Given the description of an element on the screen output the (x, y) to click on. 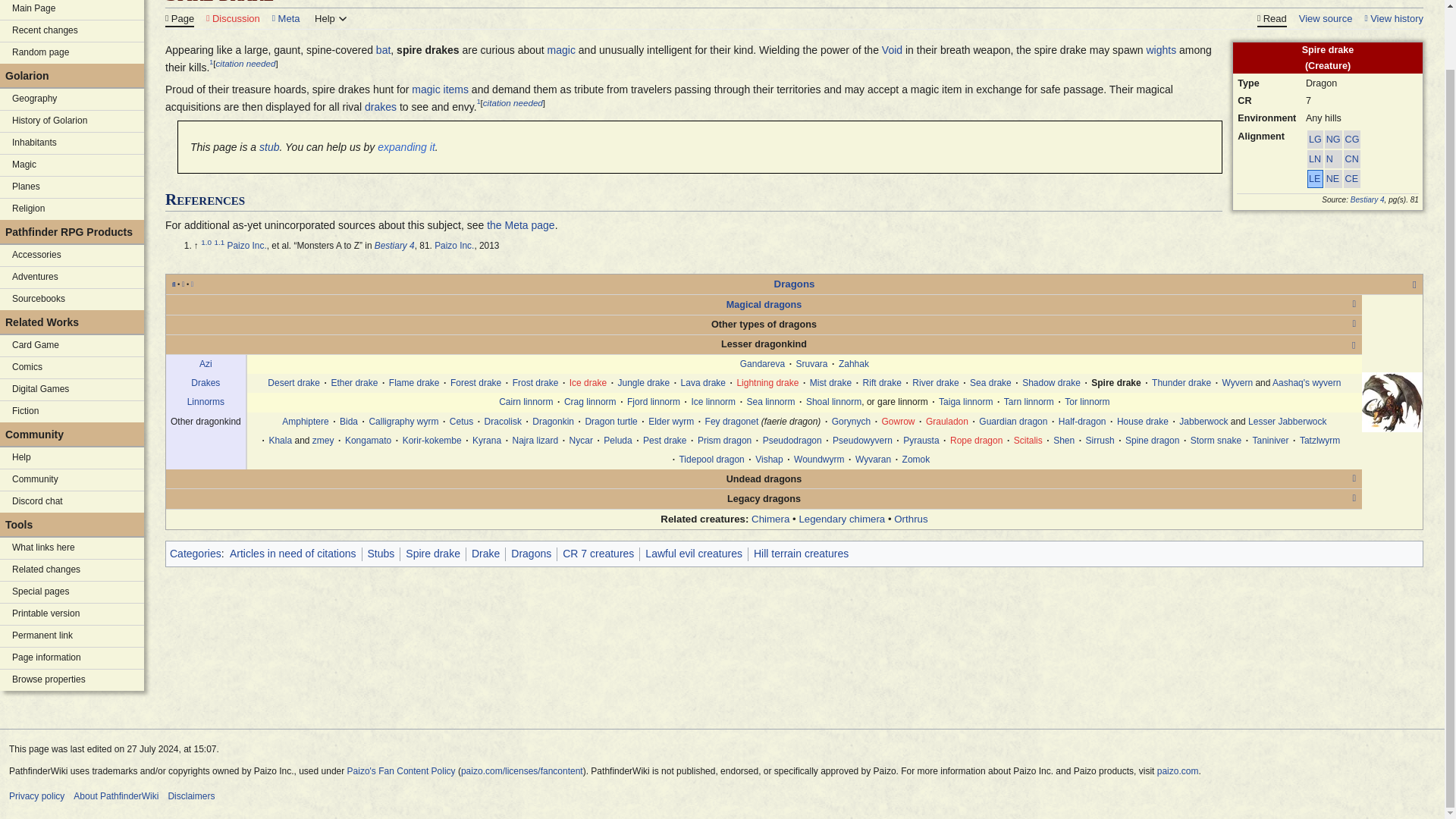
Digital Games (72, 389)
Permanent link (72, 636)
Inhabitants (72, 142)
Permanent link to this revision of this page (72, 636)
Main Page (72, 9)
Related changes (72, 569)
Random page (72, 52)
What links here (72, 547)
Sourcebooks (72, 299)
Community (72, 479)
